Given the description of an element on the screen output the (x, y) to click on. 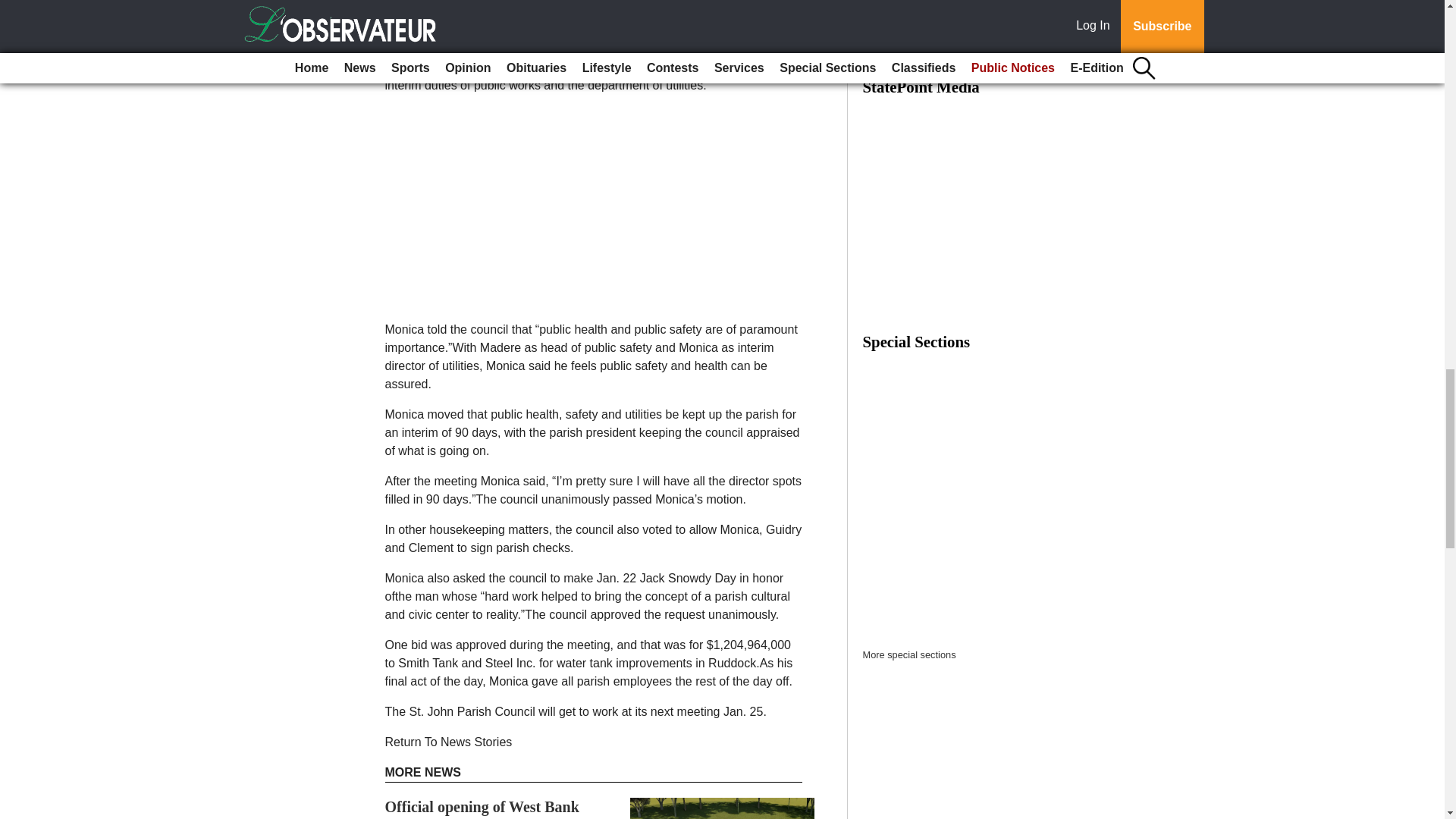
Official opening of West Bank Spray Park set for July 30 (482, 808)
Official opening of West Bank Spray Park set for July 30 (482, 808)
